Given the description of an element on the screen output the (x, y) to click on. 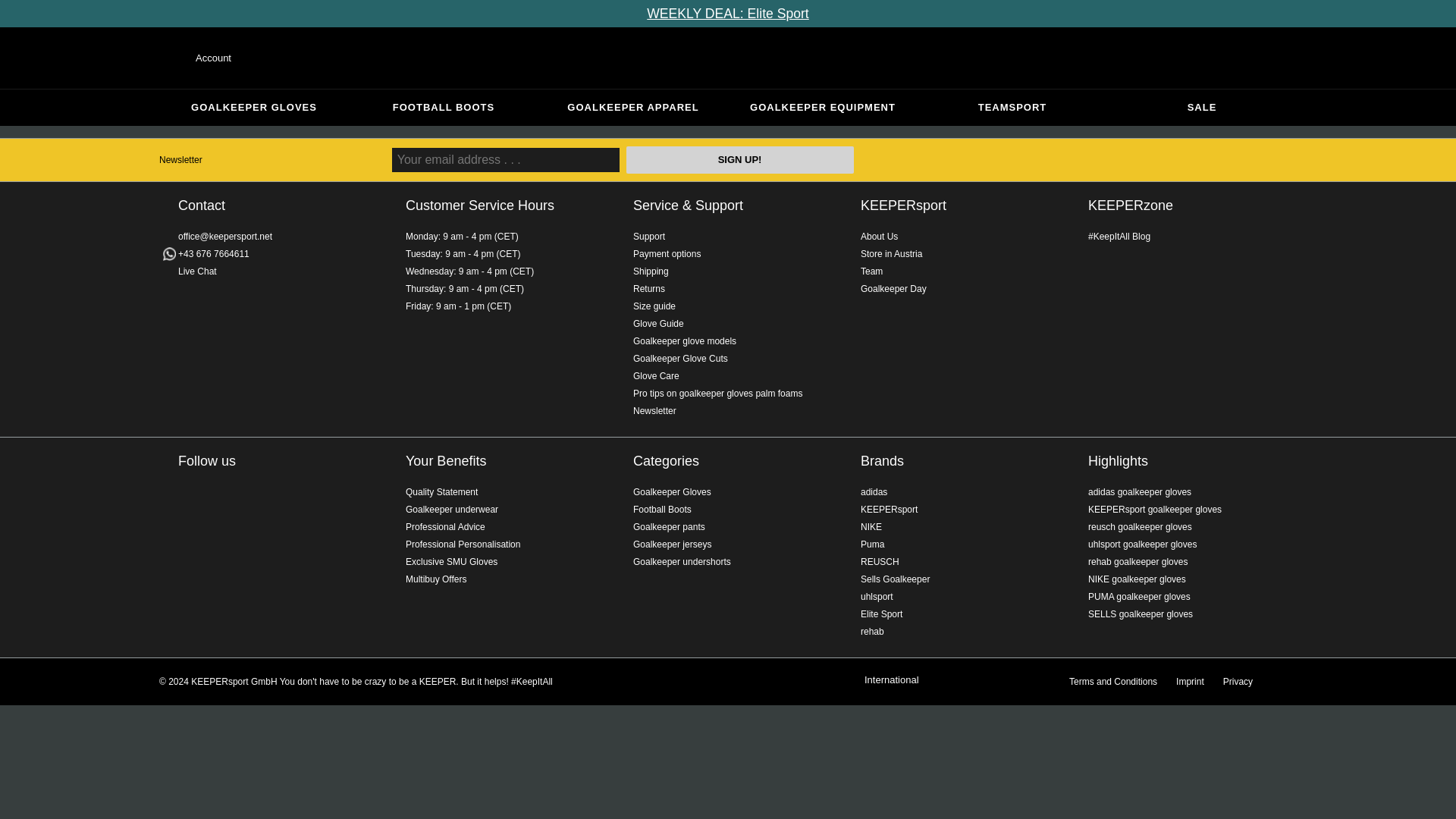
GOALKEEPER EQUIPMENT (822, 107)
GOALKEEPER APPAREL (633, 107)
Live Chat (196, 271)
Goalkeeper Day (893, 288)
KEEPERsport on TikTok (247, 495)
GOALKEEPER GLOVES (253, 107)
KEEPERsport (903, 205)
Sign up! (739, 159)
KEEPERsport on Facebook (187, 495)
KEEPERsport on Instagram (187, 524)
